Given the description of an element on the screen output the (x, y) to click on. 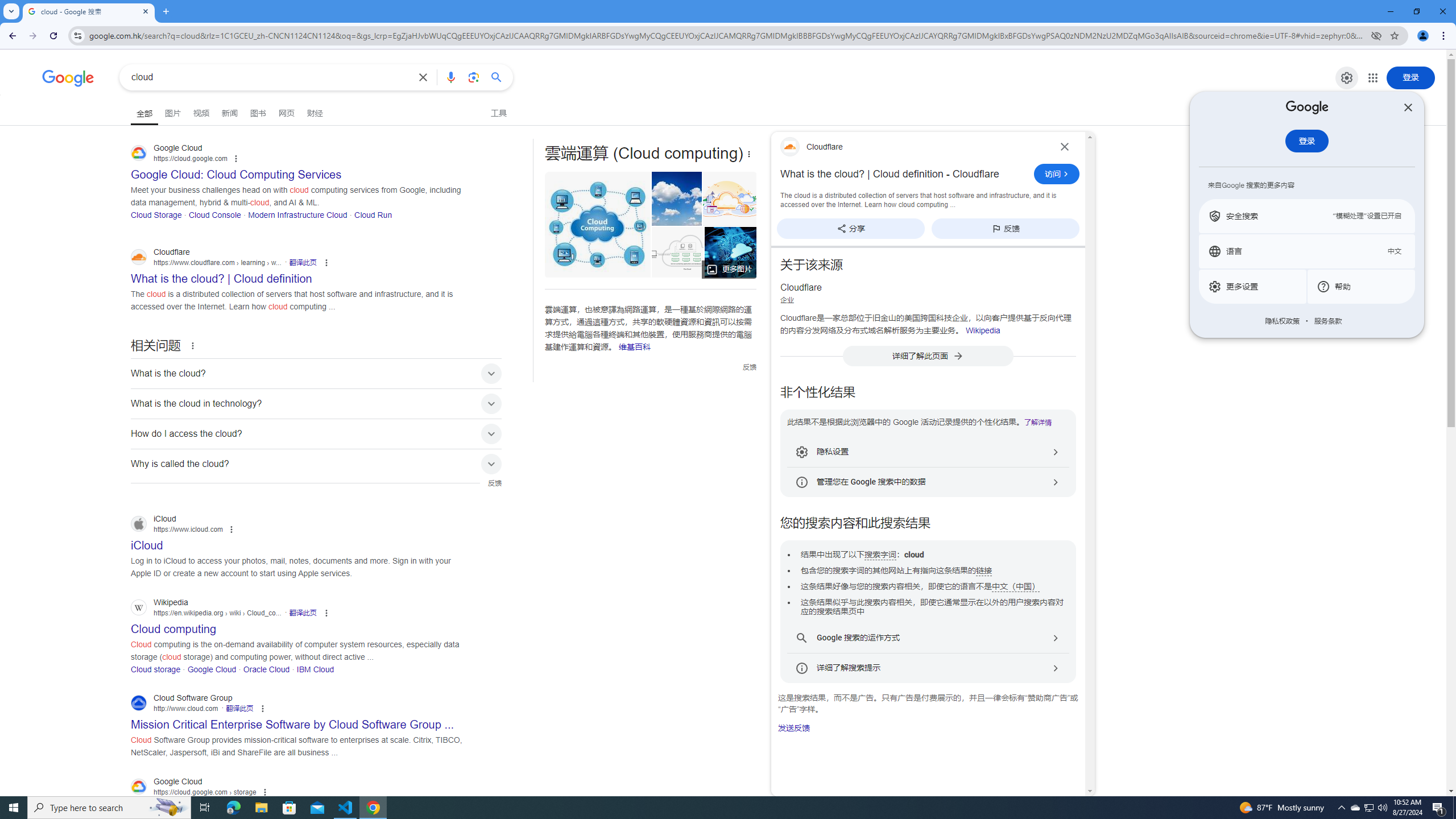
Cloud Storage (156, 214)
Google Cloud (211, 669)
